Given the description of an element on the screen output the (x, y) to click on. 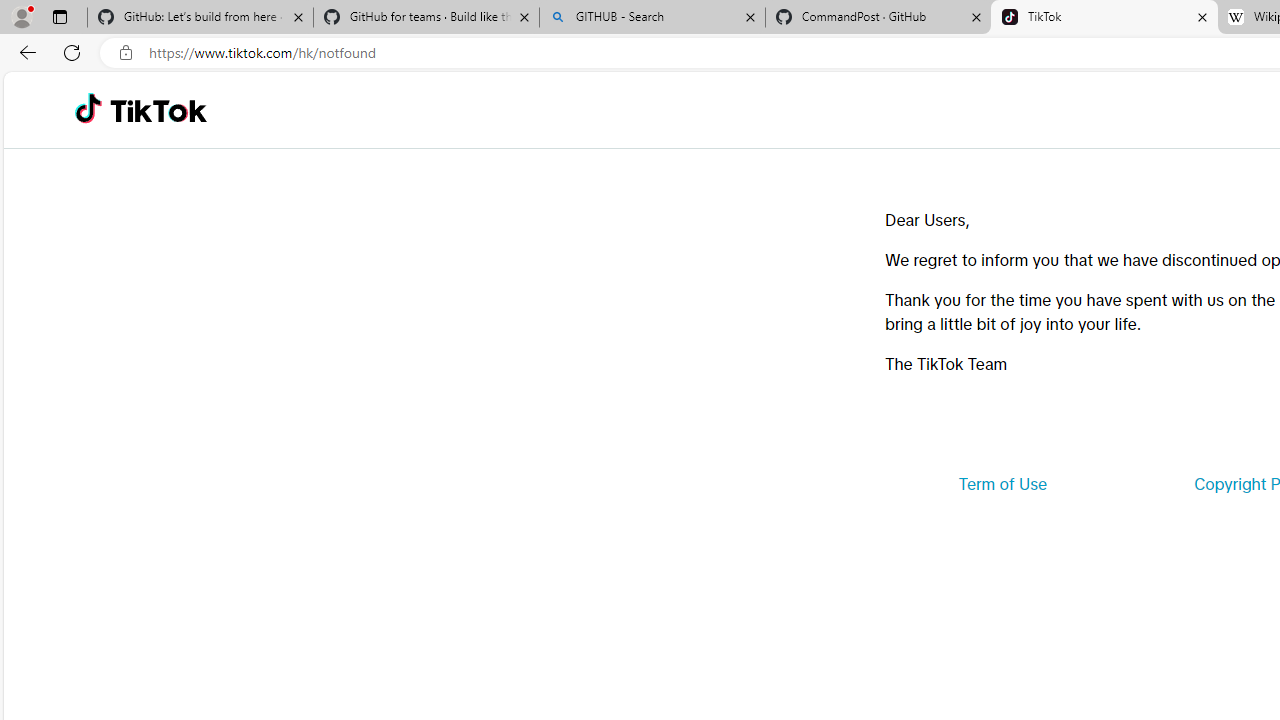
Term of Use (1002, 484)
GITHUB - Search (652, 17)
TikTok (158, 110)
TikTok (1104, 17)
